Given the description of an element on the screen output the (x, y) to click on. 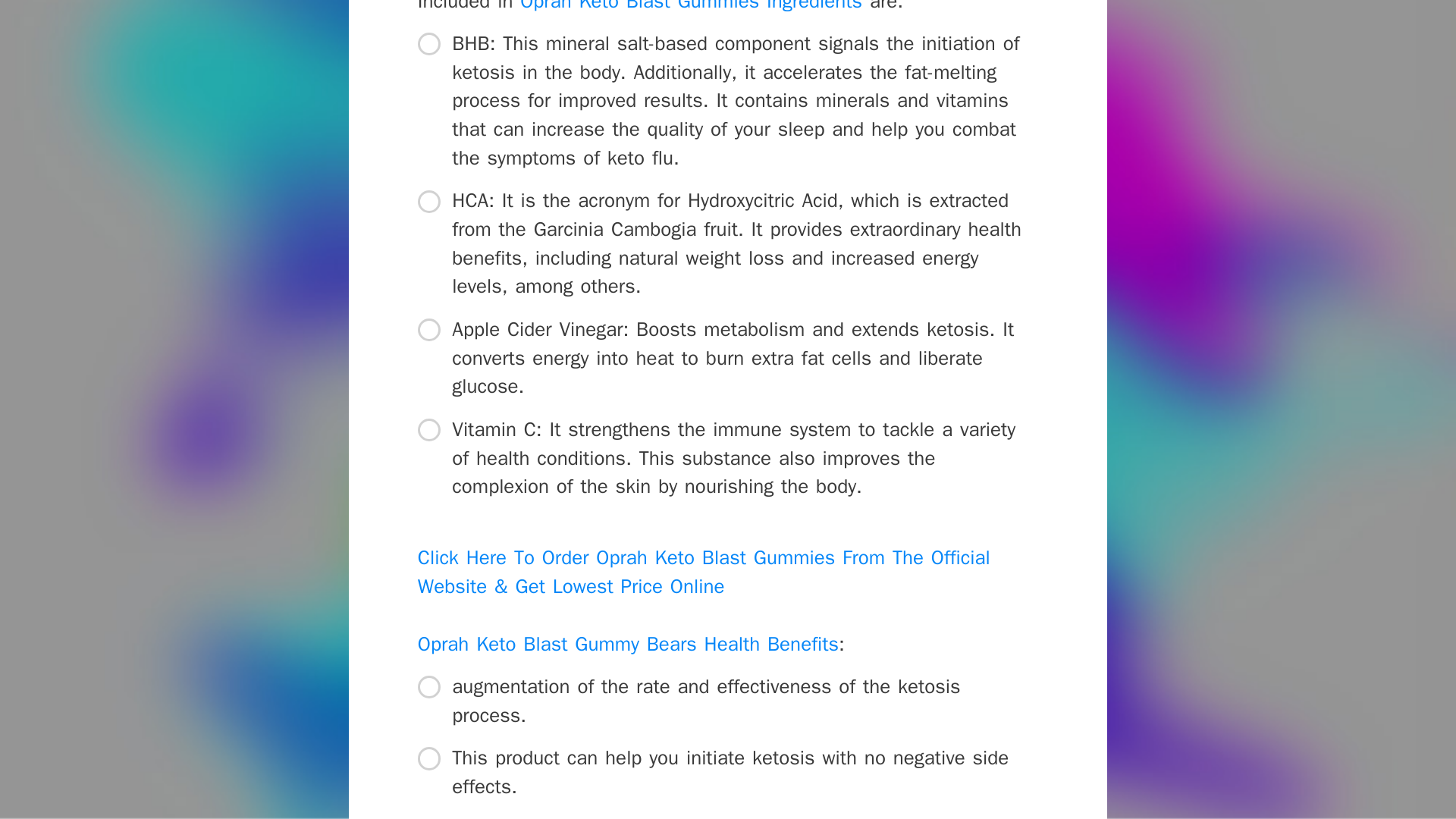
Oprah Keto Blast Gummy Bears Health Benefits (627, 643)
Oprah Keto Blast Gummies Ingredients (690, 6)
